Given the description of an element on the screen output the (x, y) to click on. 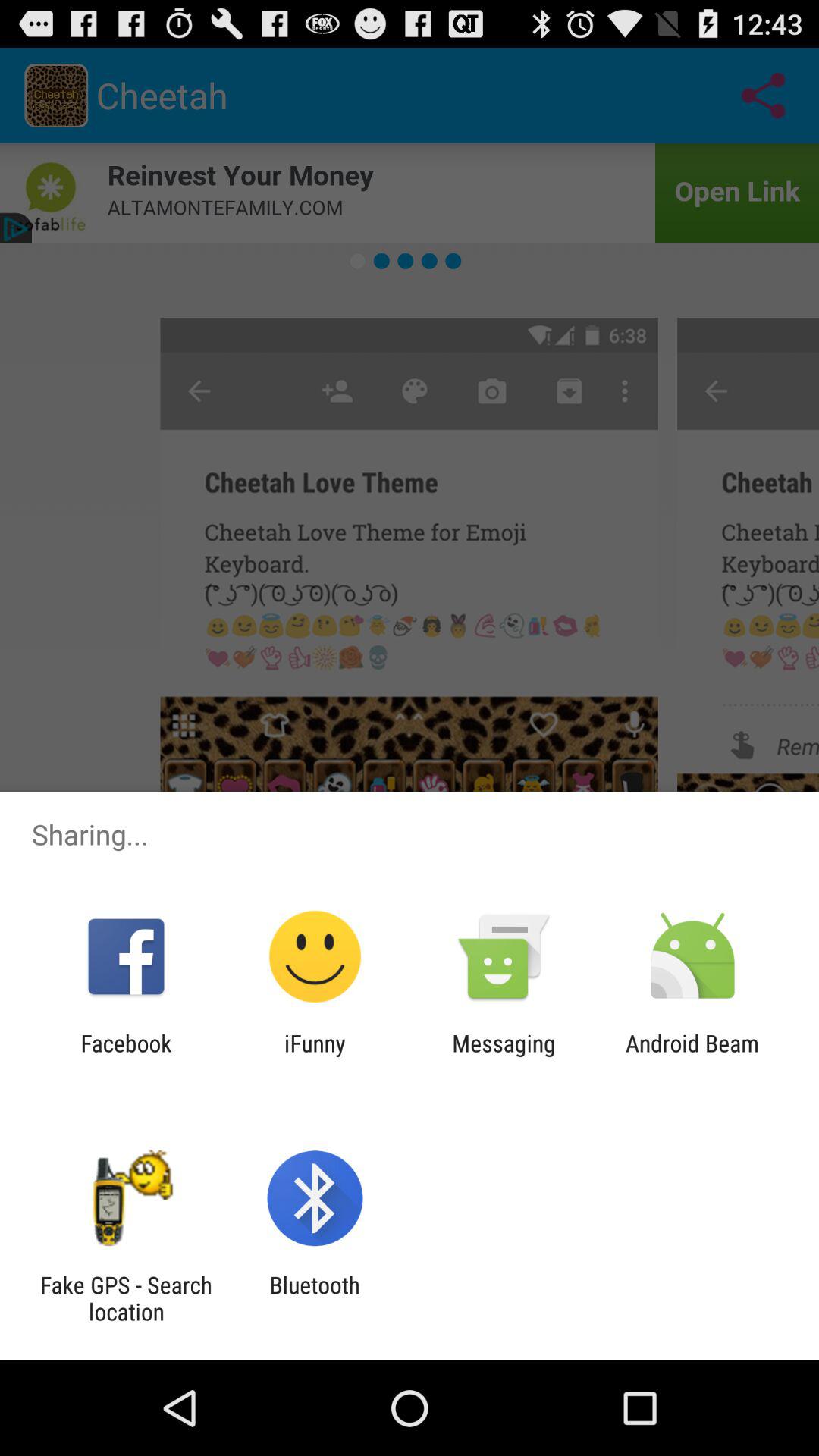
choose the item next to facebook item (314, 1056)
